Given the description of an element on the screen output the (x, y) to click on. 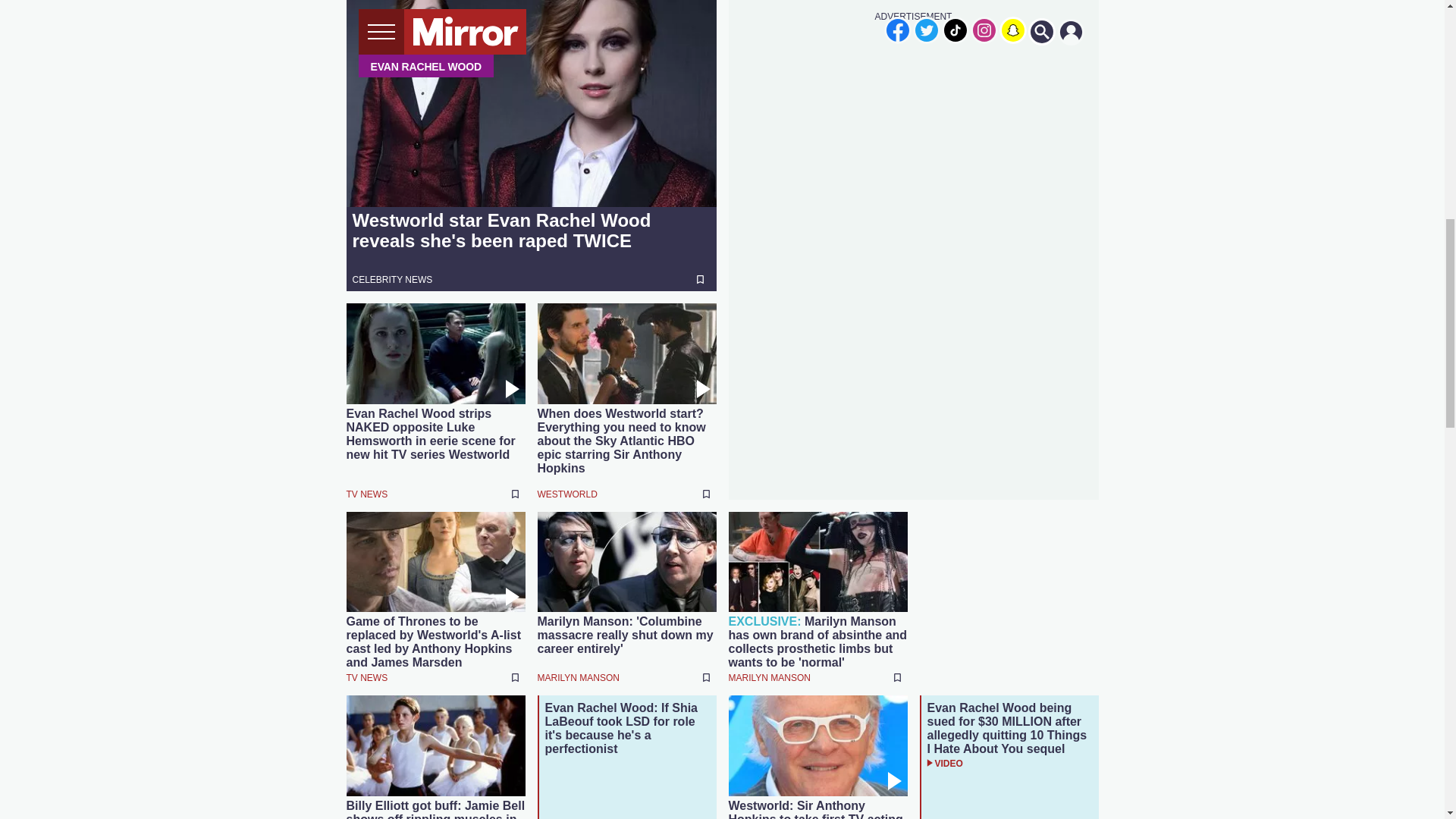
CELEBRITY NEWS (392, 279)
